Given the description of an element on the screen output the (x, y) to click on. 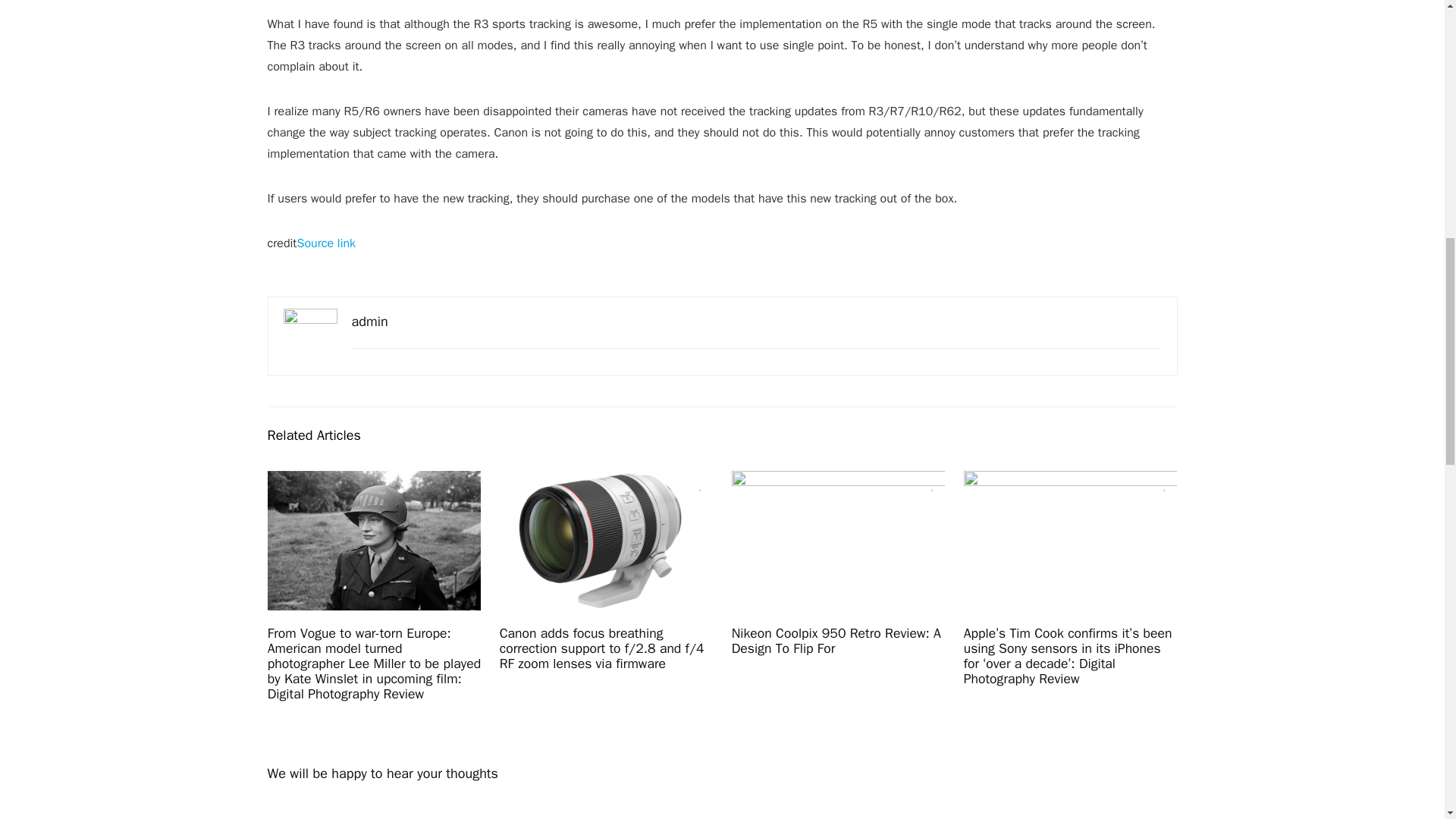
Source link (326, 242)
admin (370, 321)
Nikeon Coolpix 950 Retro Review: A Design To Flip For (836, 640)
